Given the description of an element on the screen output the (x, y) to click on. 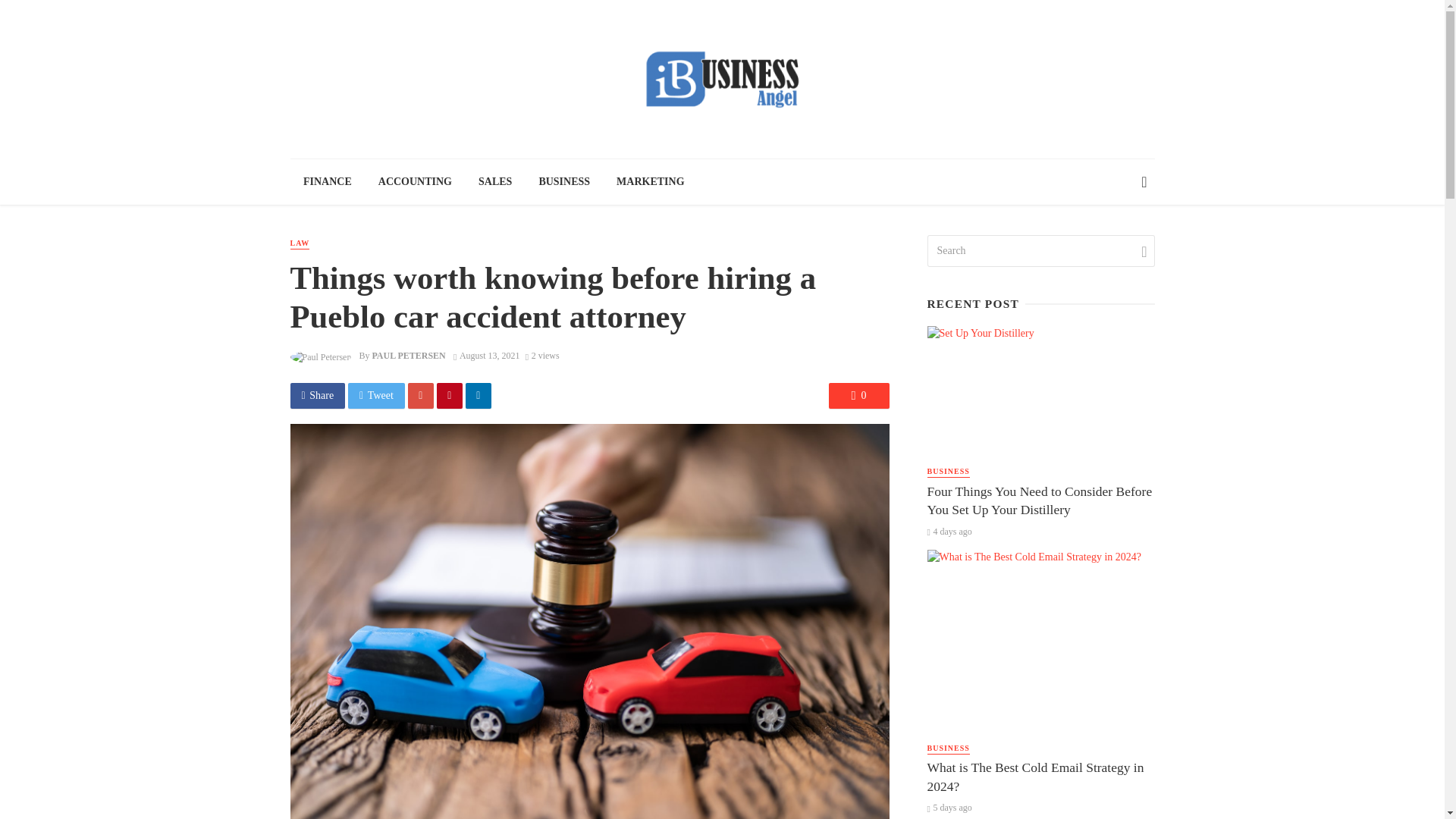
SALES (495, 181)
ACCOUNTING (414, 181)
Share on Linkedin (478, 395)
0 (858, 395)
FINANCE (327, 181)
Share (317, 395)
Share on Pinterest (449, 395)
MARKETING (650, 181)
PAUL PETERSEN (408, 355)
Share on Twitter (375, 395)
